Given the description of an element on the screen output the (x, y) to click on. 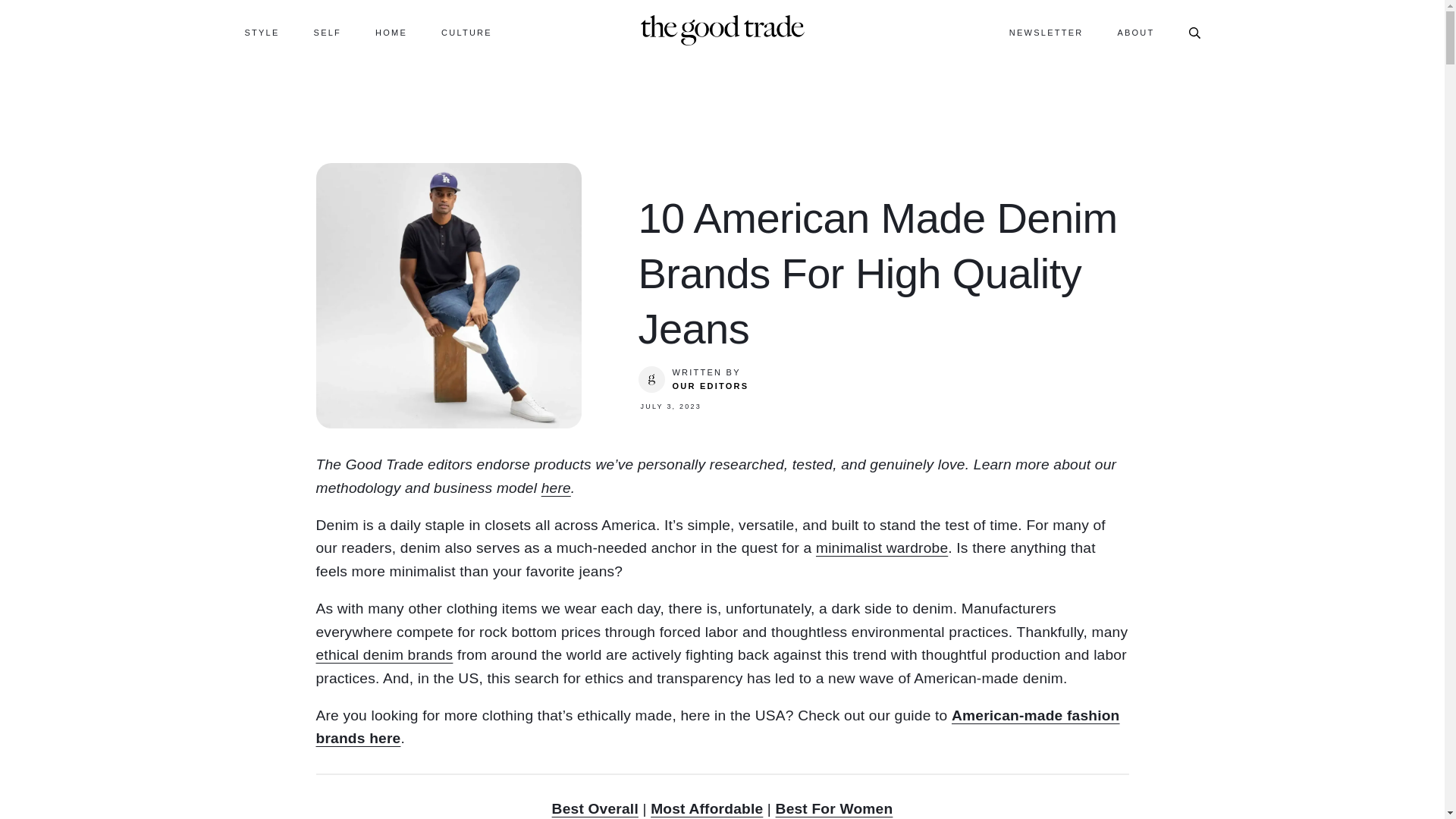
STYLE (261, 31)
Homepage (721, 28)
HOME (391, 31)
SELF (327, 31)
